Given the description of an element on the screen output the (x, y) to click on. 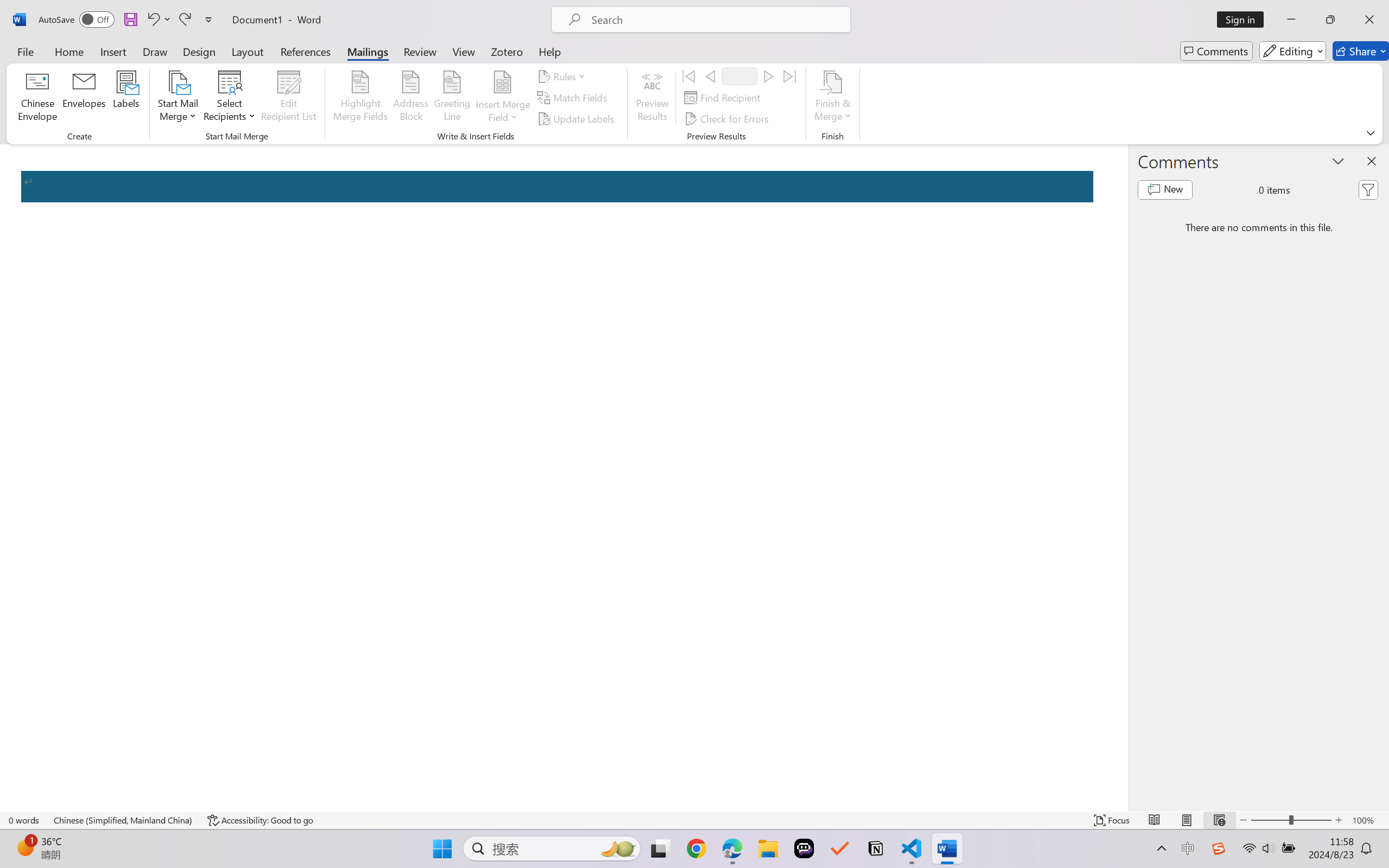
Sign in - Google Accounts (41, 12)
Appearance (67, 199)
New Tab (1203, 12)
Downloads (67, 329)
Extensions (67, 436)
Google Account (603, 12)
Performance (67, 175)
Who is my administrator? - Google Account Help (257, 12)
Sign In - USA TODAY (128, 12)
